Given the description of an element on the screen output the (x, y) to click on. 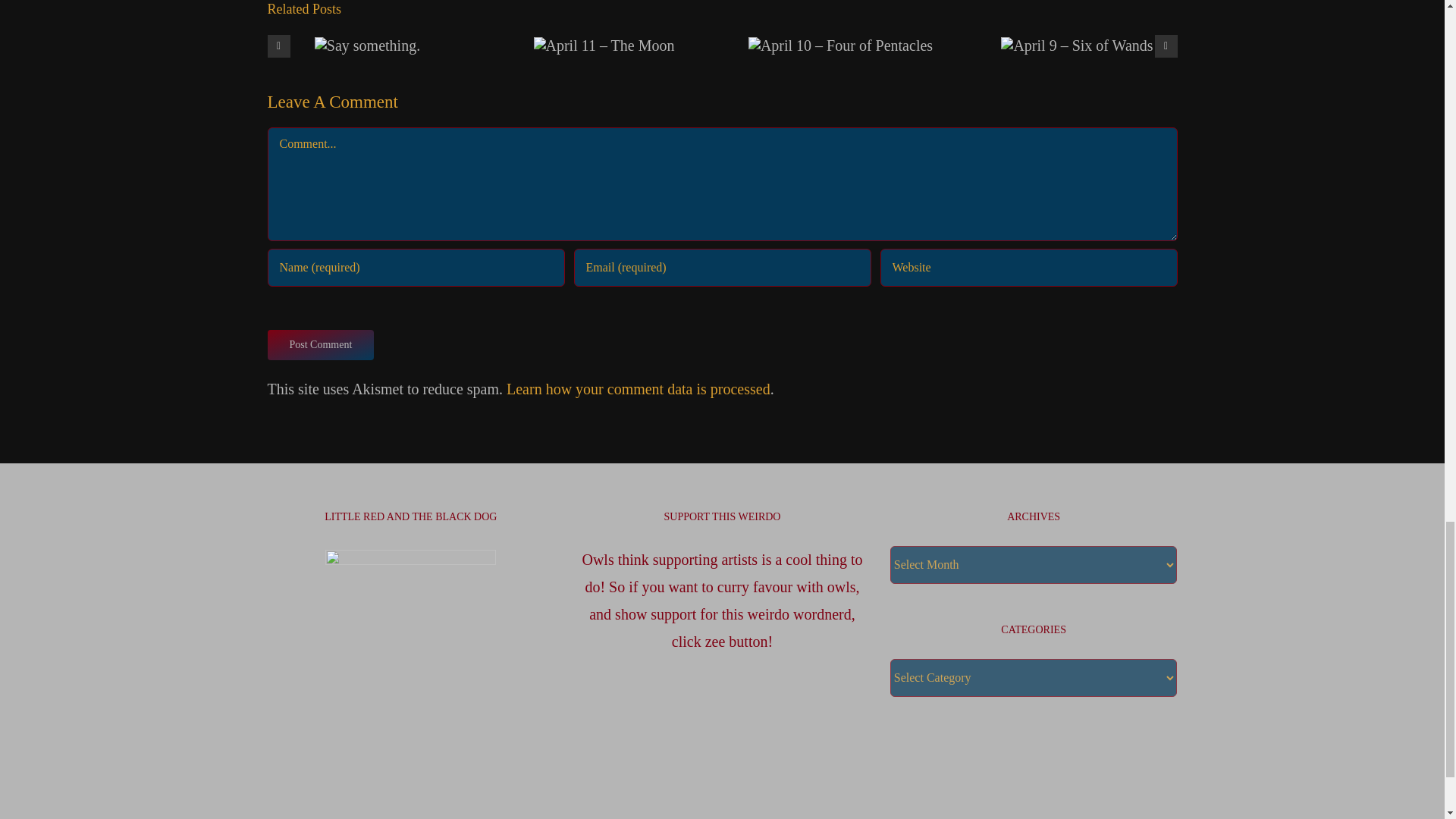
Learn how your comment data is processed (638, 388)
Post Comment (320, 345)
Post Comment (320, 345)
